Given the description of an element on the screen output the (x, y) to click on. 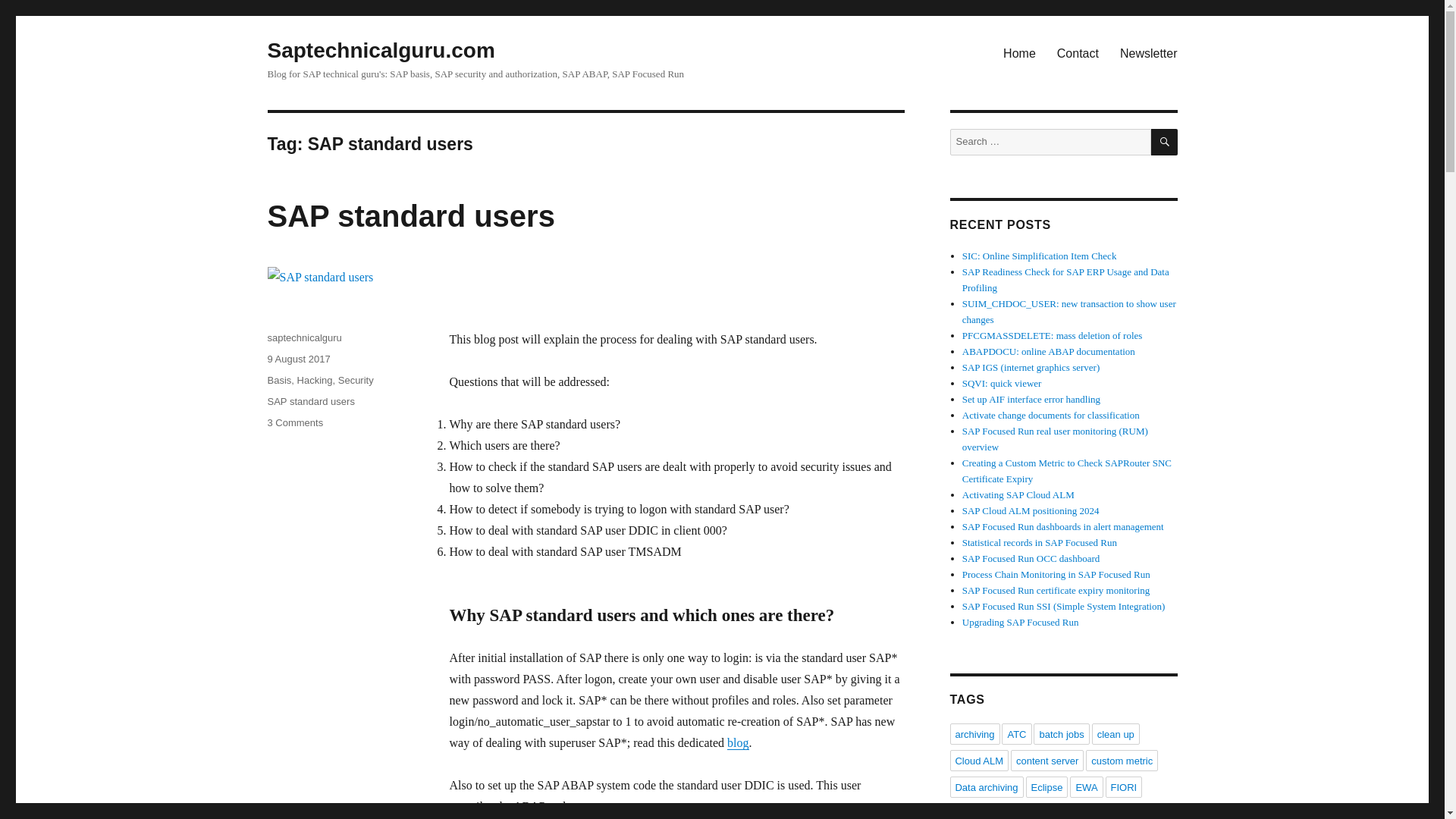
SEARCH (1164, 141)
blog (737, 742)
Newsletter (294, 422)
Hacking (1148, 52)
Basis (315, 379)
SAP standard users (278, 379)
PFCGMASSDELETE: mass deletion of roles (309, 401)
Security (1052, 335)
Saptechnicalguru.com (355, 379)
SAP Readiness Check for SAP ERP Usage and Data Profiling (380, 50)
SIC: Online Simplification Item Check (1065, 279)
ABAPDOCU: online ABAP documentation (1039, 255)
Contact (1048, 351)
Home (1077, 52)
